Given the description of an element on the screen output the (x, y) to click on. 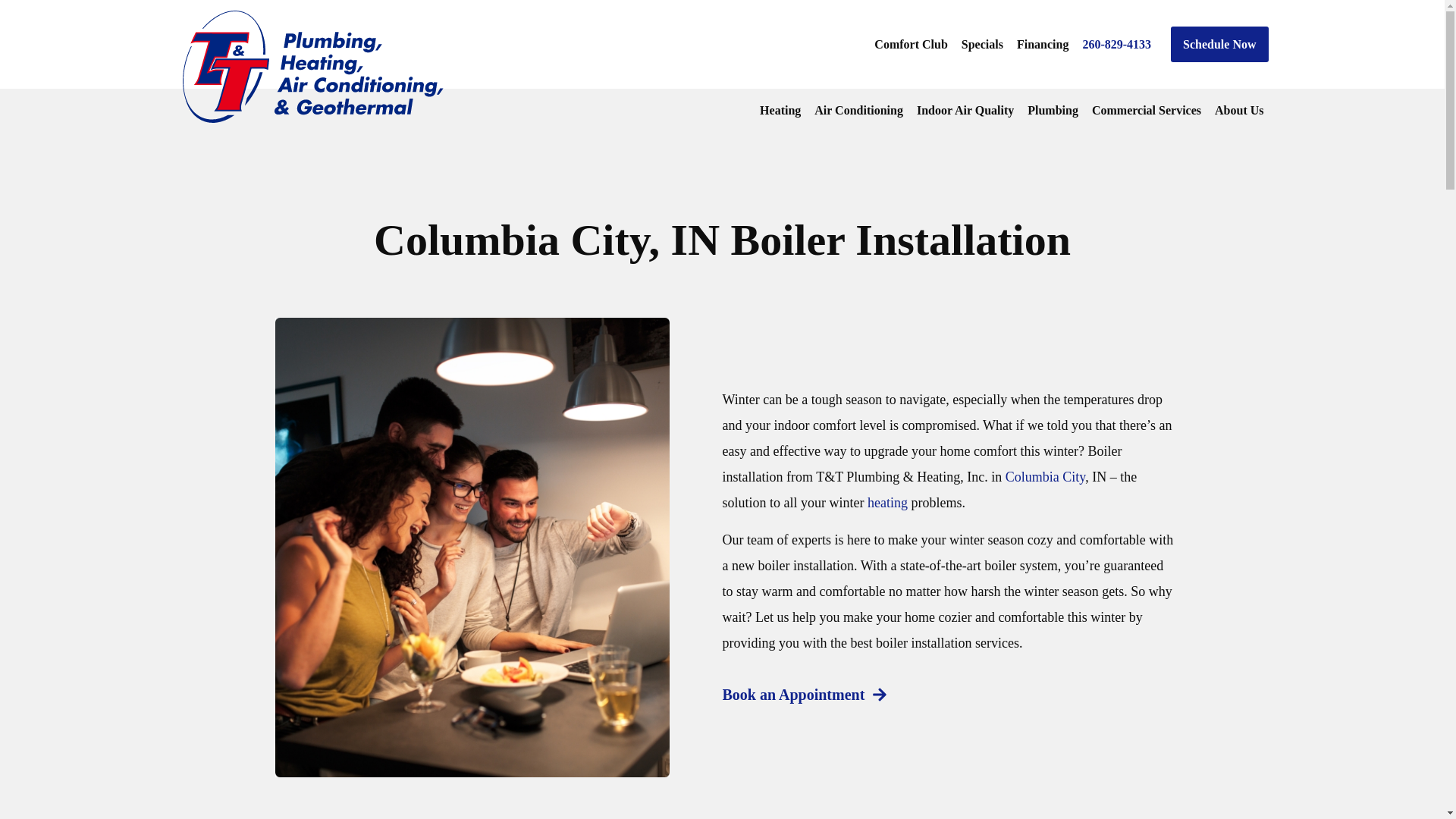
About Us (1238, 109)
Air Conditioning (858, 109)
Schedule Now (1219, 44)
260-829-4133 (1116, 44)
Indoor Air Quality (964, 109)
Heating (780, 109)
Comfort Club (910, 44)
Specials (981, 44)
Commercial Services (1146, 109)
Financing (1042, 44)
Plumbing (1053, 109)
